Given the description of an element on the screen output the (x, y) to click on. 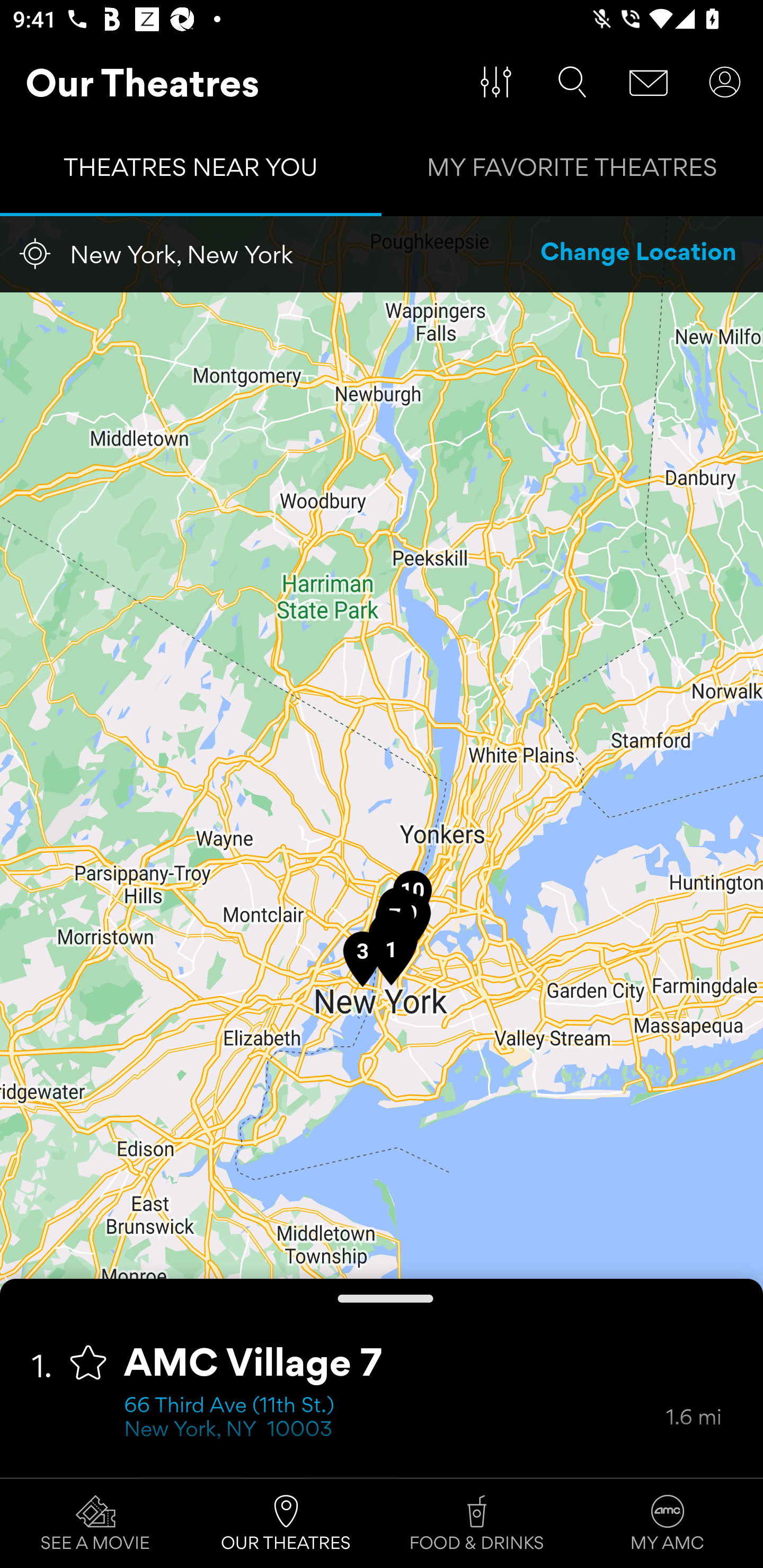
Filter Theatres (495, 82)
Search (572, 82)
Message Center (648, 82)
User Account (724, 82)
THEATRES NEAR YOU
Tab 1 of 2 (190, 171)
MY FAVORITE THEATRES
Tab 2 of 2 (572, 171)
Change Location (639, 253)
66 Third Ave (11th St.)  
New York, NY  10003 (394, 1418)
SEE A MOVIE
Tab 1 of 4 (95, 1523)
OUR THEATRES
Tab 2 of 4 (285, 1523)
FOOD & DRINKS
Tab 3 of 4 (476, 1523)
MY AMC
Tab 4 of 4 (667, 1523)
